Given the description of an element on the screen output the (x, y) to click on. 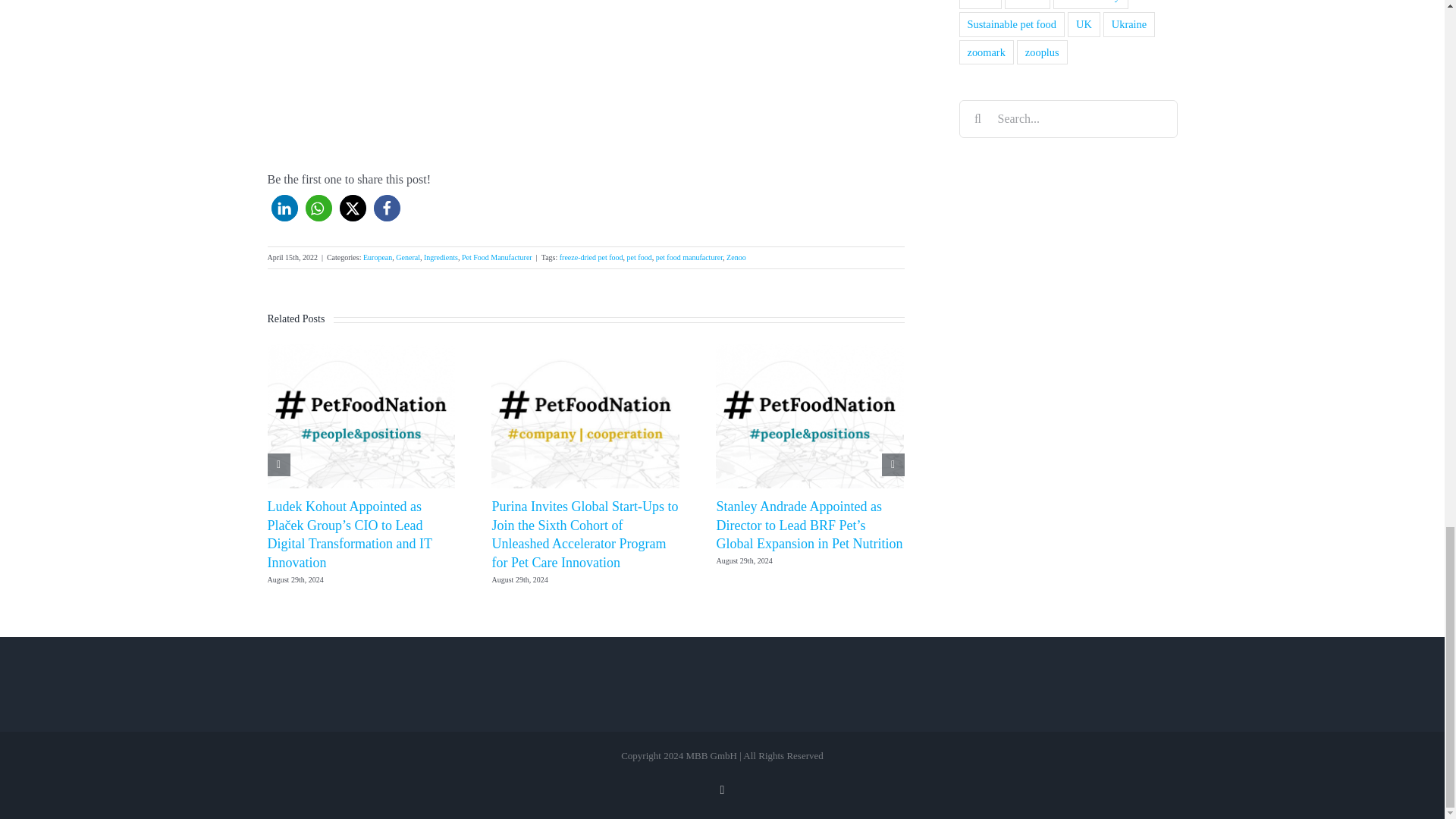
Share on Whatsapp (317, 207)
Pet Food Manufacturer (496, 257)
freeze-dried pet food (591, 257)
Zenoo (735, 257)
European (376, 257)
pet food (639, 257)
Ingredients (440, 257)
pet food manufacturer (689, 257)
Share on Facebook (385, 207)
